Given the description of an element on the screen output the (x, y) to click on. 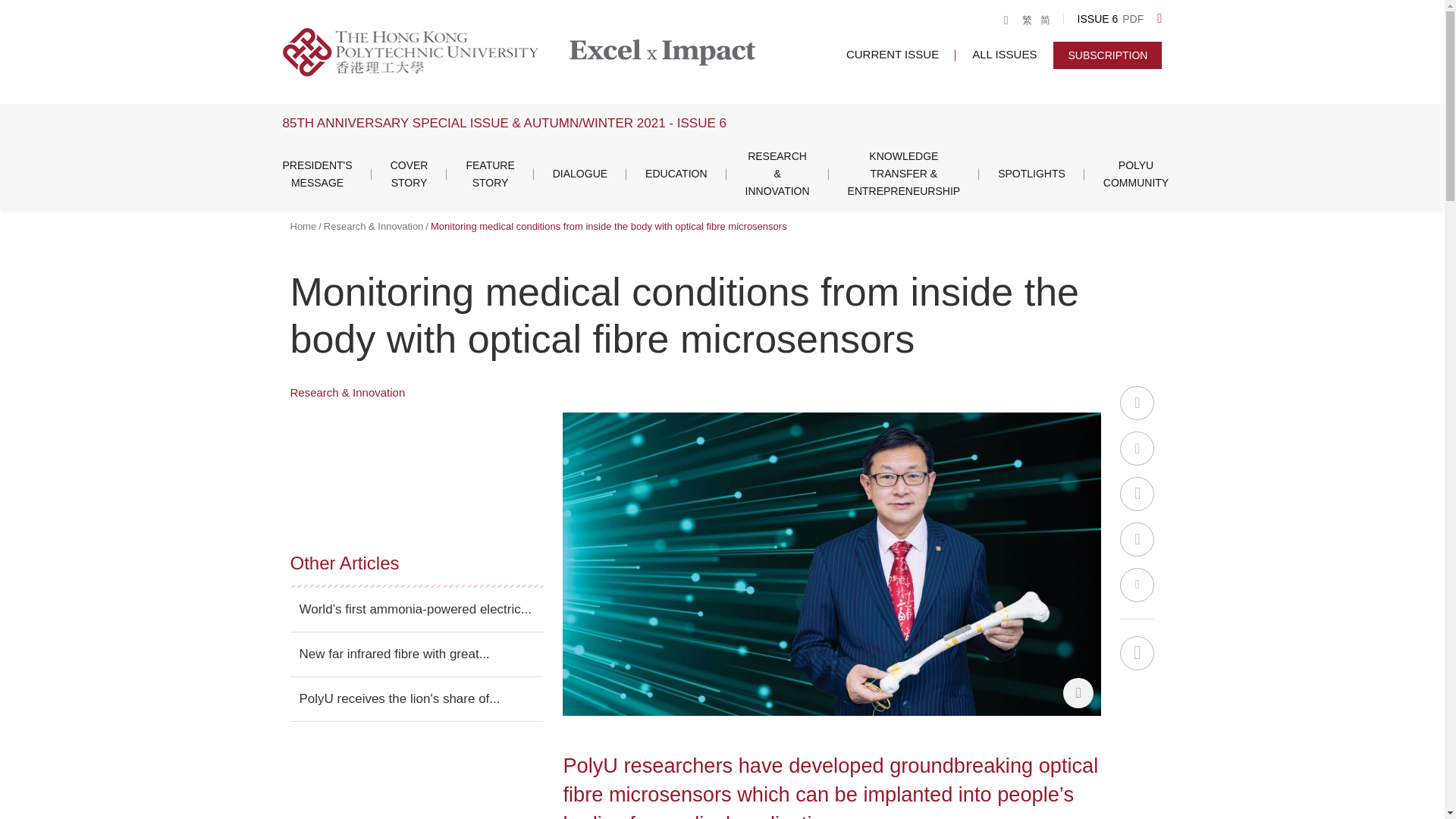
SUBSCRIPTION (1106, 54)
COVER STORY (409, 174)
PDF (1132, 19)
ALL ISSUES (1004, 53)
PRESIDENT'S MESSAGE (317, 174)
CURRENT ISSUE (892, 53)
